Given the description of an element on the screen output the (x, y) to click on. 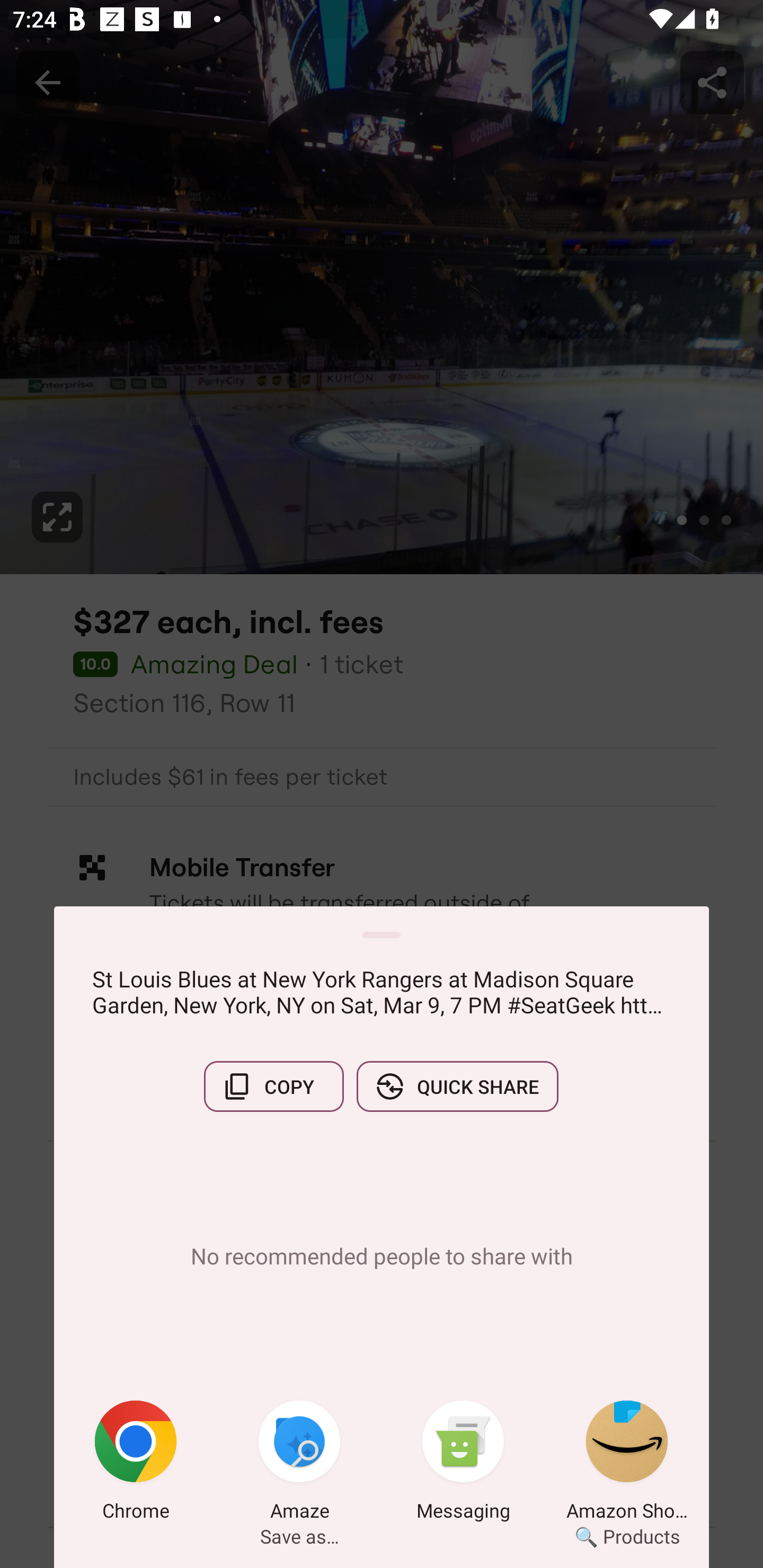
COPY (273, 1086)
QUICK SHARE (457, 1086)
Chrome (135, 1463)
Amaze Save as… (299, 1463)
Messaging (463, 1463)
Amazon Shopping 🔍 Products (626, 1463)
